Given the description of an element on the screen output the (x, y) to click on. 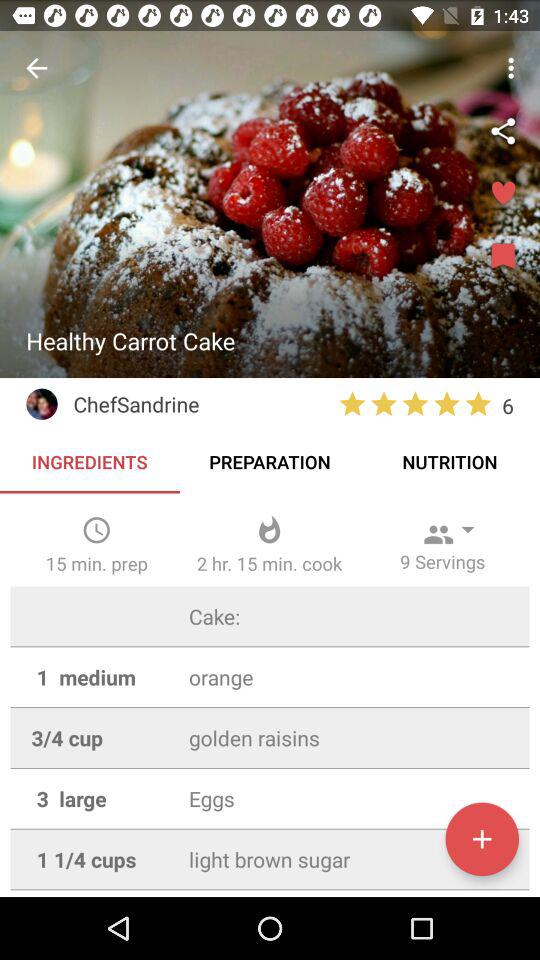
share the recipe (503, 131)
